Given the description of an element on the screen output the (x, y) to click on. 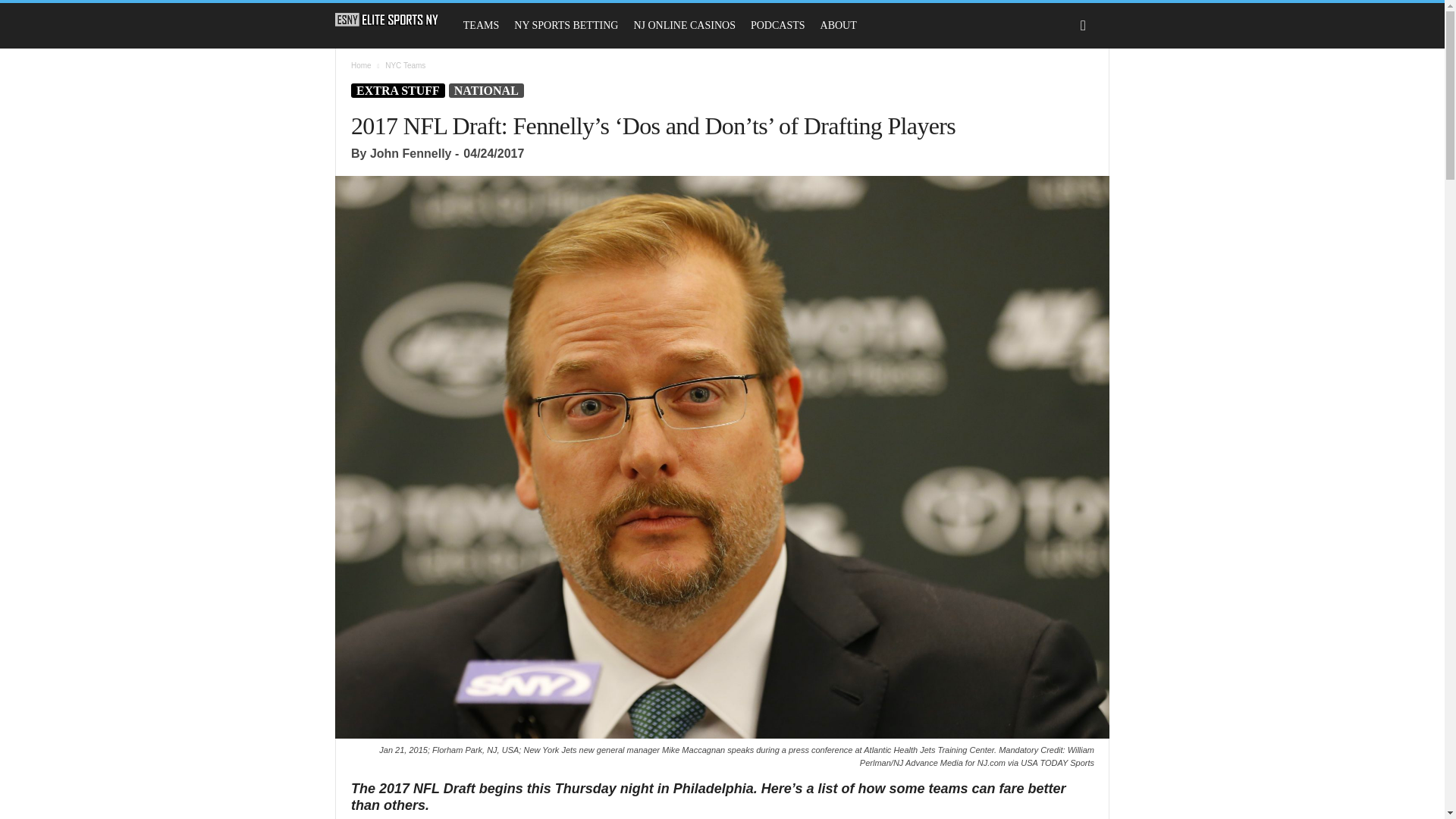
Elite Sports NY (386, 19)
TEAMS (480, 25)
Elite Sports NY (394, 19)
